Given the description of an element on the screen output the (x, y) to click on. 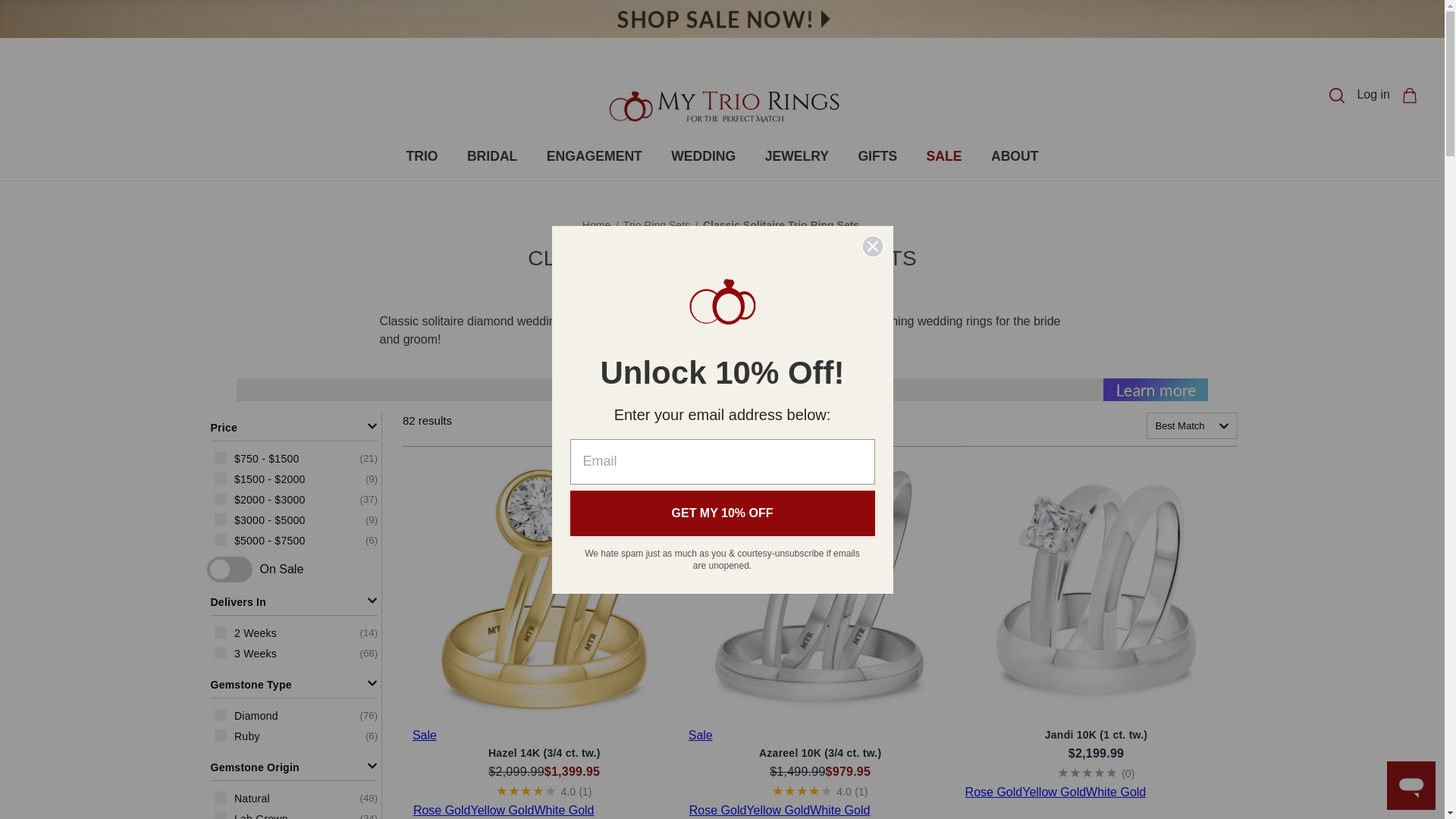
Log in (1373, 94)
Search Search (1336, 95)
My Trio Rings (721, 106)
Cart Cart (1409, 95)
TRIO (421, 155)
